Given the description of an element on the screen output the (x, y) to click on. 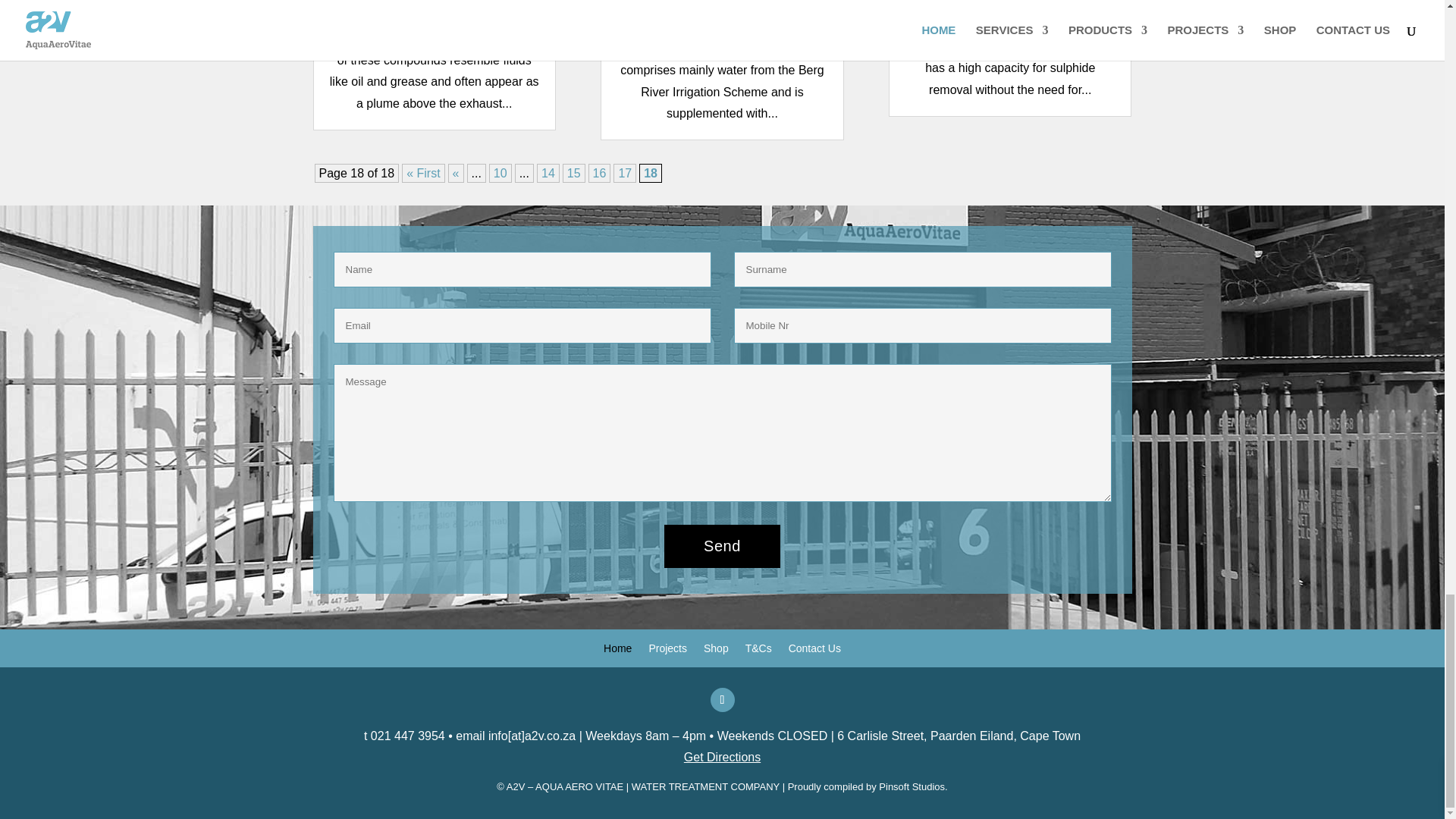
Page 10 (500, 172)
Follow on Facebook (721, 699)
Send (721, 546)
Page 14 (548, 172)
Page 16 (599, 172)
Page 15 (573, 172)
Page 17 (624, 172)
